Given the description of an element on the screen output the (x, y) to click on. 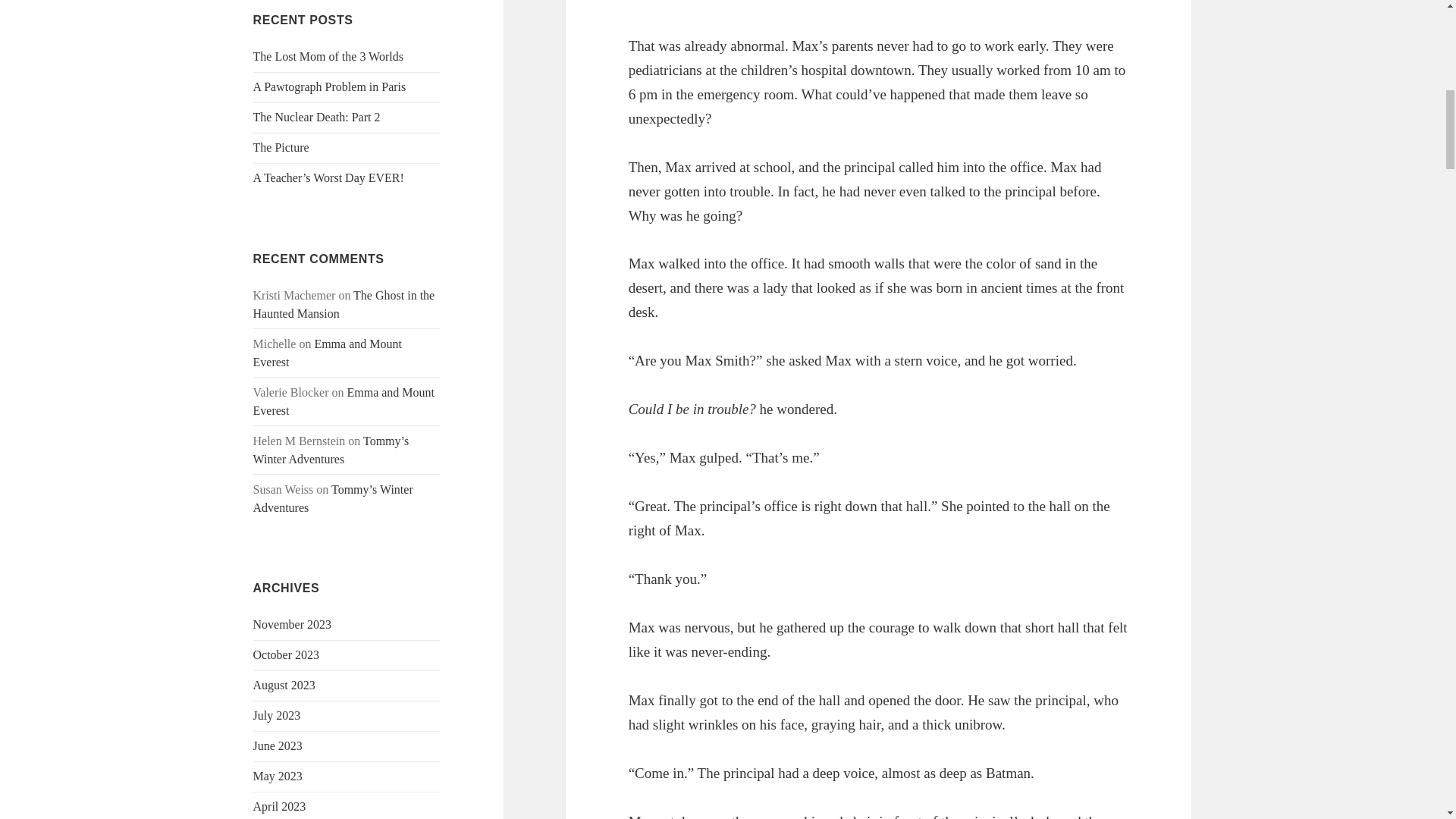
The Picture (280, 146)
May 2023 (277, 775)
October 2023 (286, 654)
The Nuclear Death: Part 2 (316, 116)
April 2023 (279, 806)
July 2023 (277, 715)
A Pawtograph Problem in Paris (329, 86)
Emma and Mount Everest (344, 400)
November 2023 (292, 624)
June 2023 (277, 745)
